Given the description of an element on the screen output the (x, y) to click on. 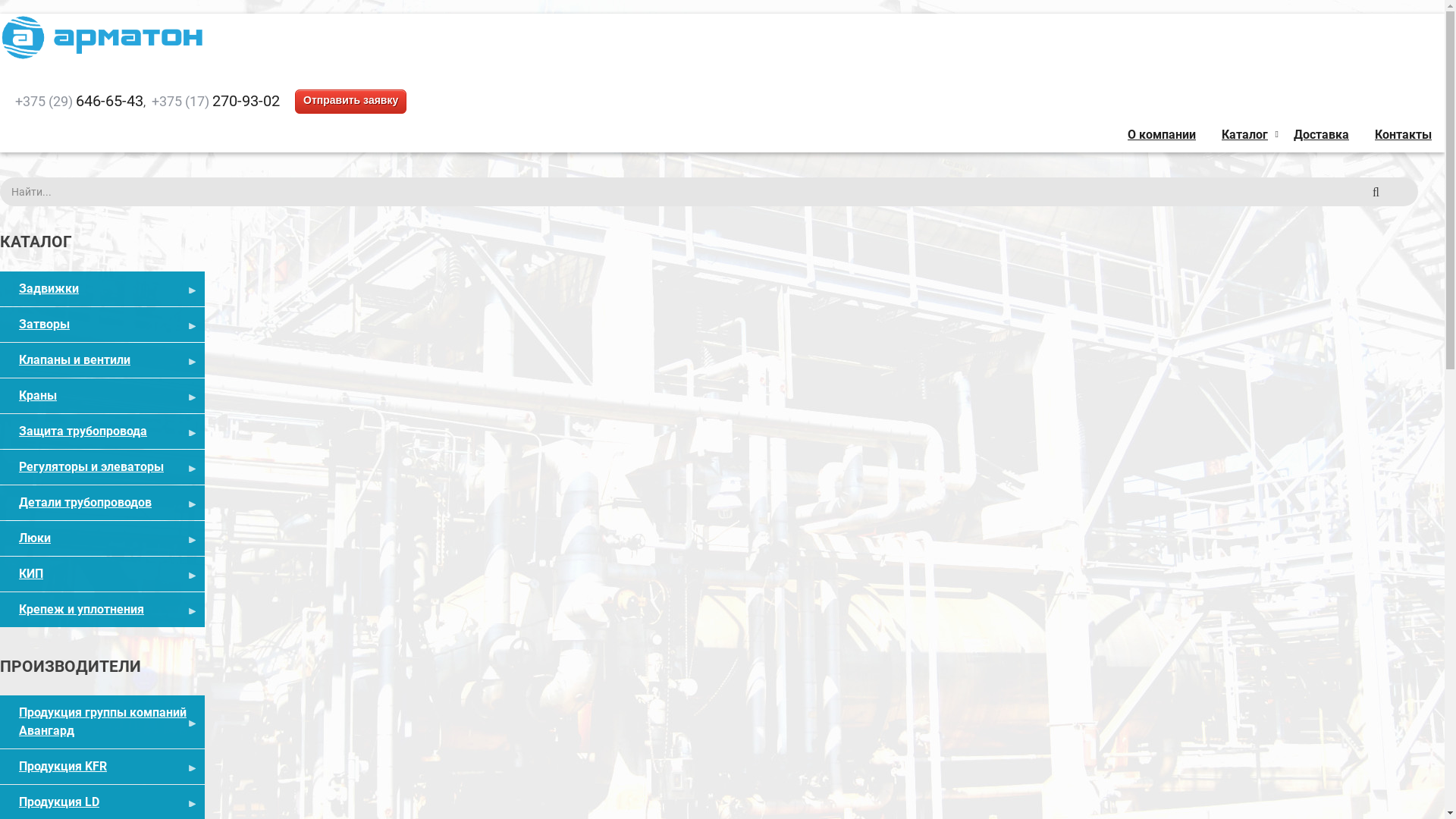
+375 (29) 646-65-43 Element type: text (79, 101)
+375 (17) 270-93-02 Element type: text (215, 101)
